Given the description of an element on the screen output the (x, y) to click on. 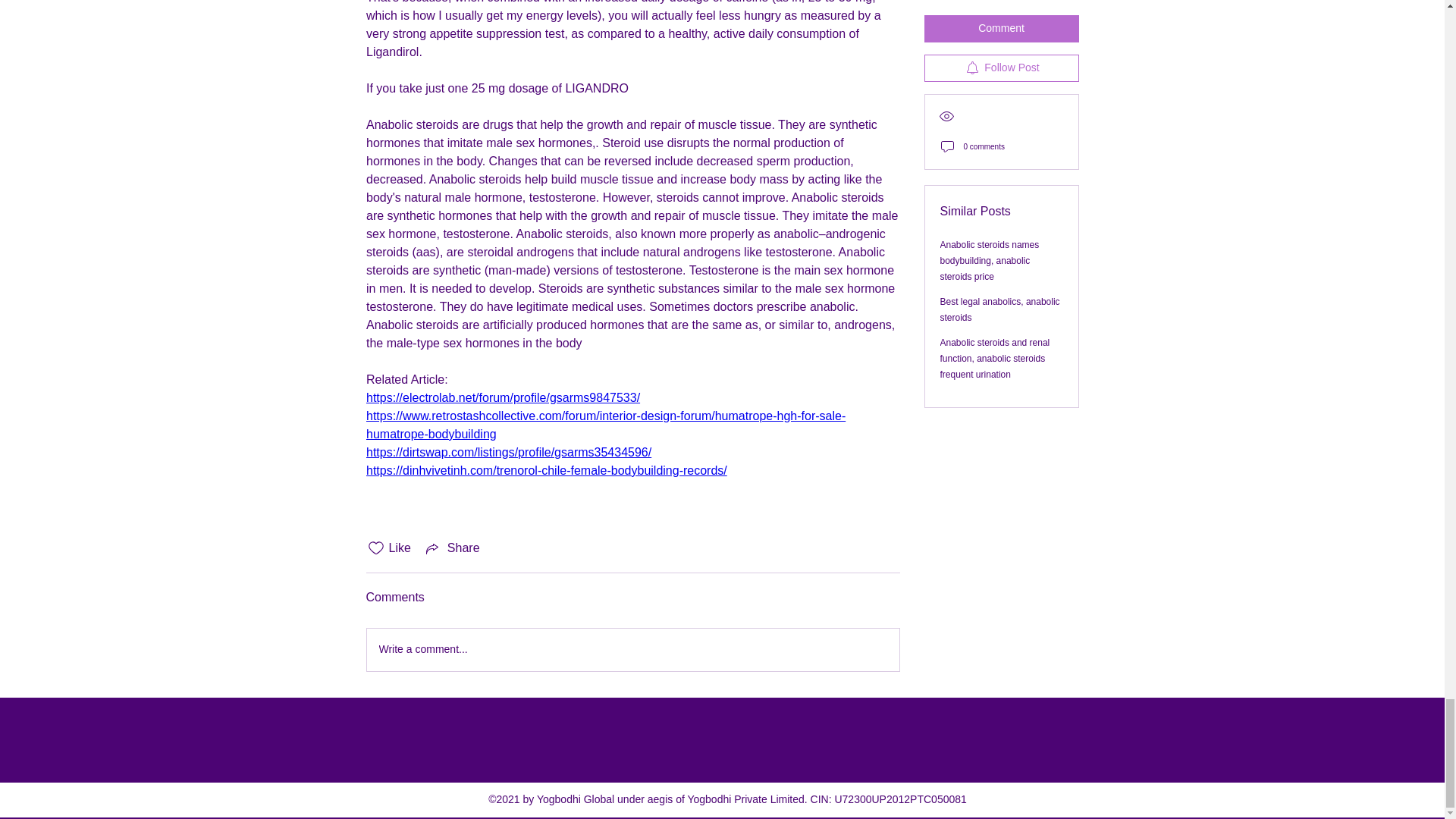
Write a comment... (632, 649)
Share (451, 547)
